Given the description of an element on the screen output the (x, y) to click on. 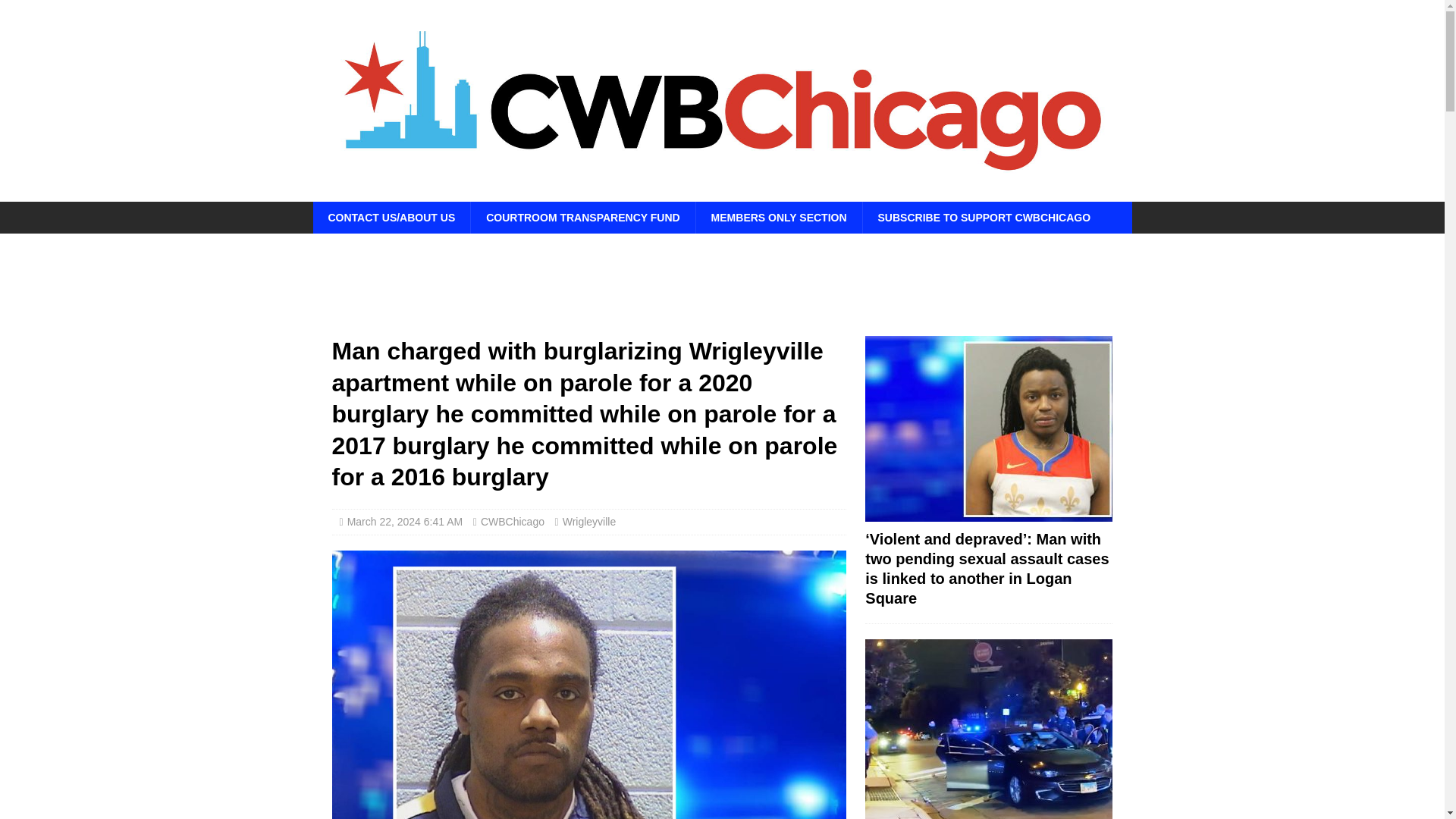
SUBSCRIBE TO SUPPORT CWBCHICAGO (983, 217)
MEMBERS ONLY SECTION (778, 217)
CWBChicago (512, 521)
COURTROOM TRANSPARENCY FUND (582, 217)
Wrigleyville (588, 521)
March 22, 2024 6:41 AM (405, 521)
